Given the description of an element on the screen output the (x, y) to click on. 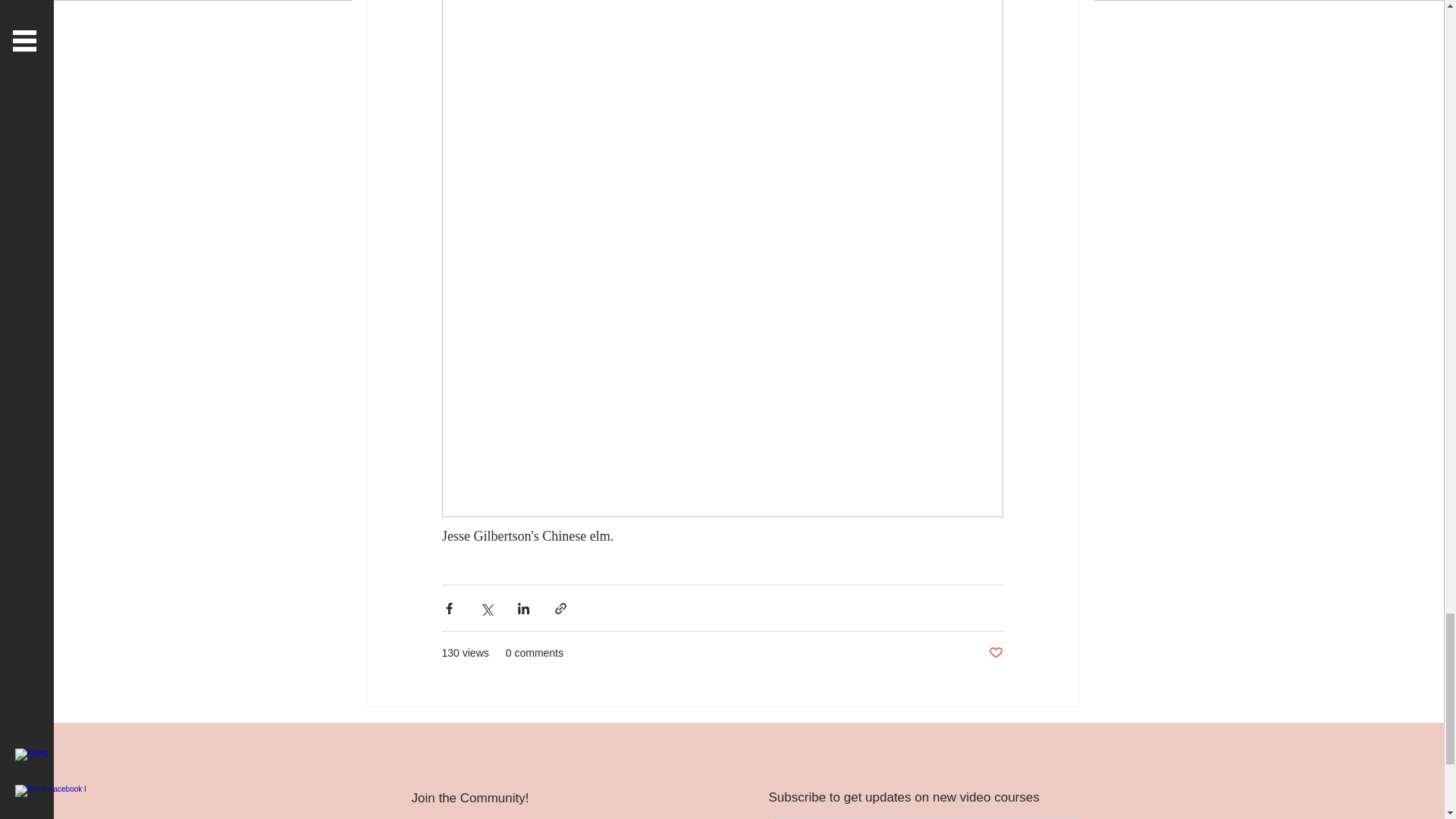
Post not marked as liked (995, 652)
